Given the description of an element on the screen output the (x, y) to click on. 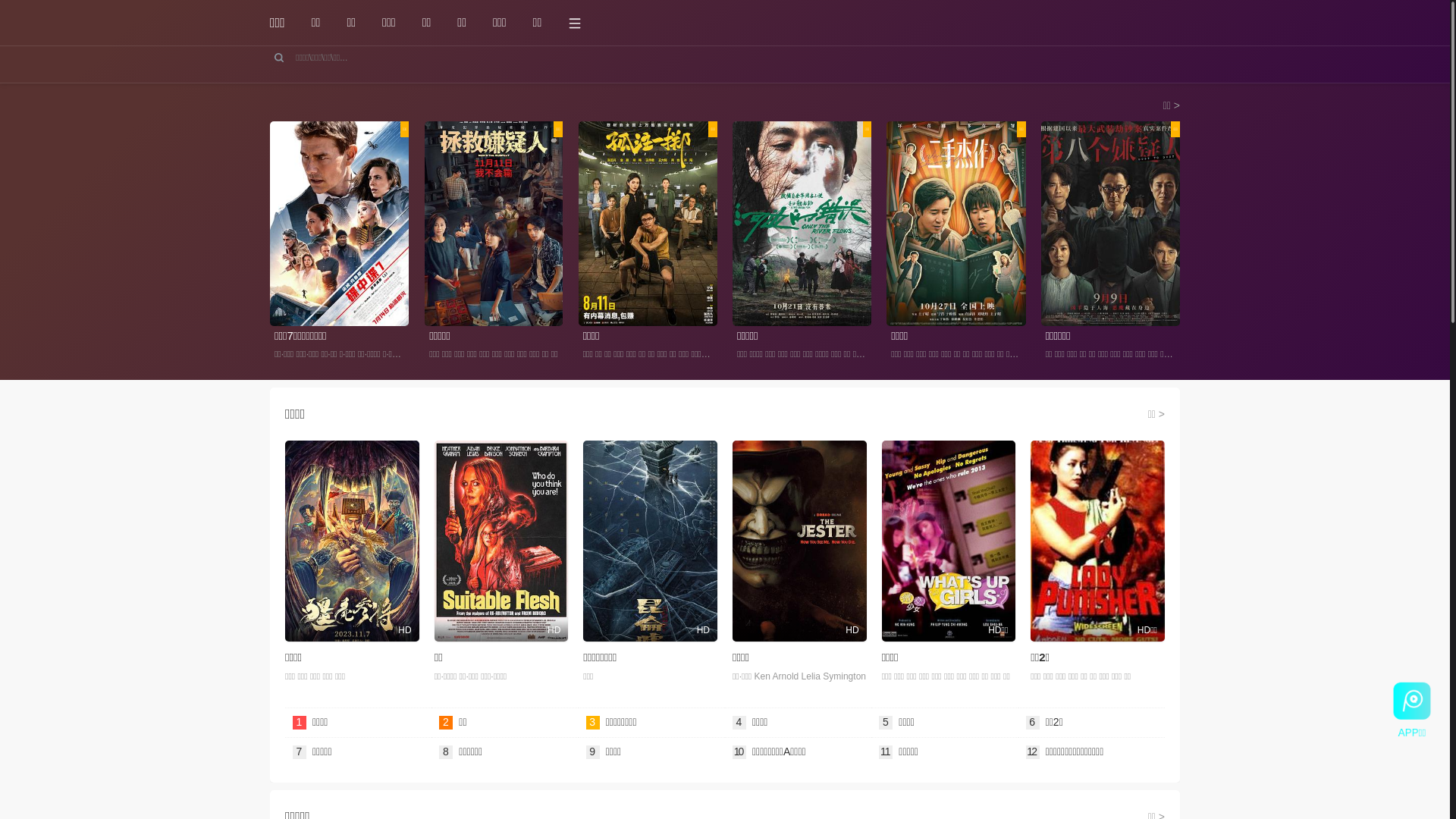
HD Element type: text (501, 540)
app url Element type: hover (1408, 700)
HD Element type: text (352, 540)
HD Element type: text (799, 540)
HD Element type: text (650, 540)
